Given the description of an element on the screen output the (x, y) to click on. 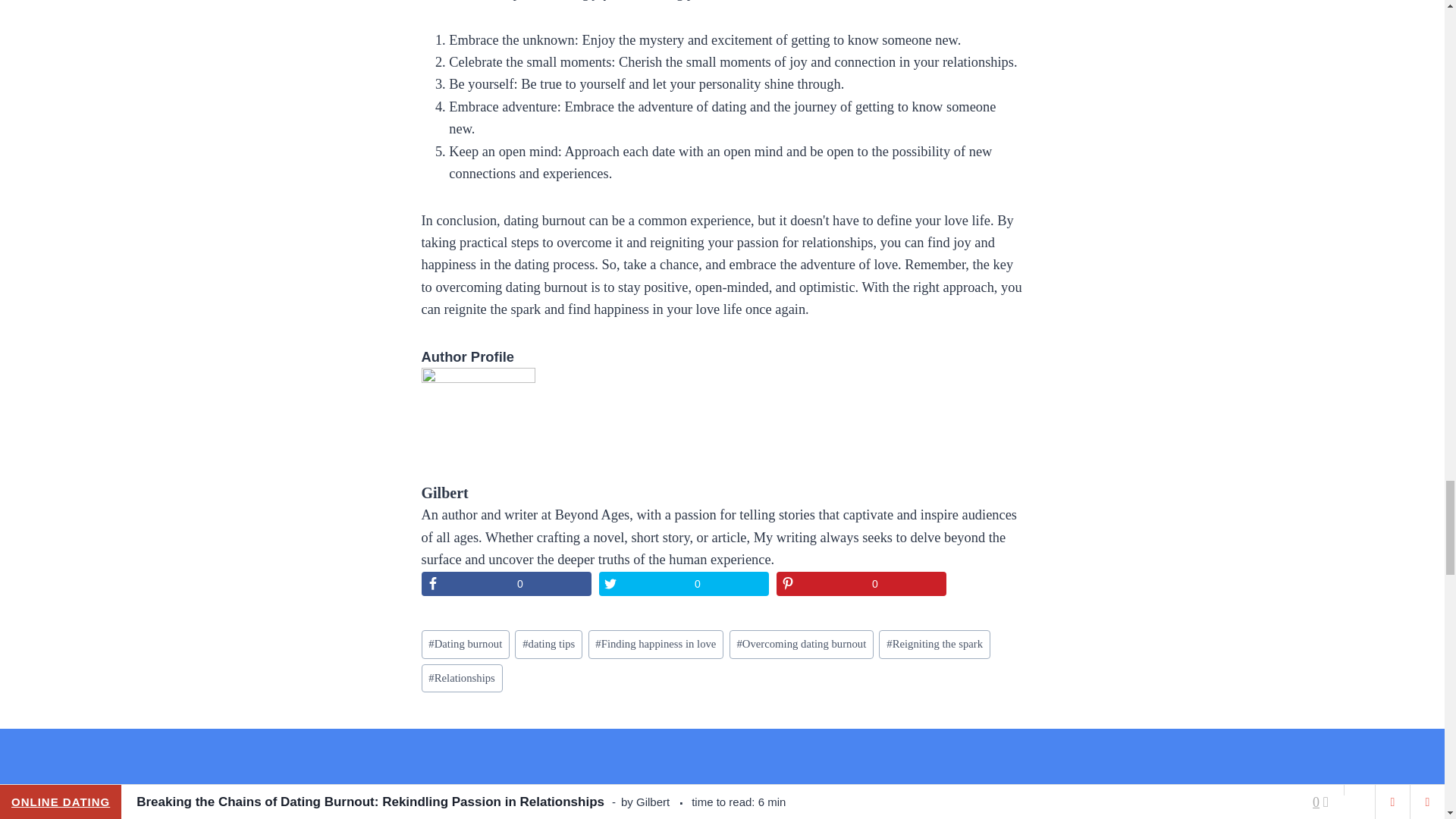
Finding happiness in love (655, 643)
Reigniting the spark (934, 643)
Dating burnout (466, 643)
Share on Facebook (506, 583)
Relationships (462, 678)
Share on Twitter (683, 583)
dating tips (548, 643)
Share on Pinterest (861, 583)
Overcoming dating burnout (802, 643)
